Given the description of an element on the screen output the (x, y) to click on. 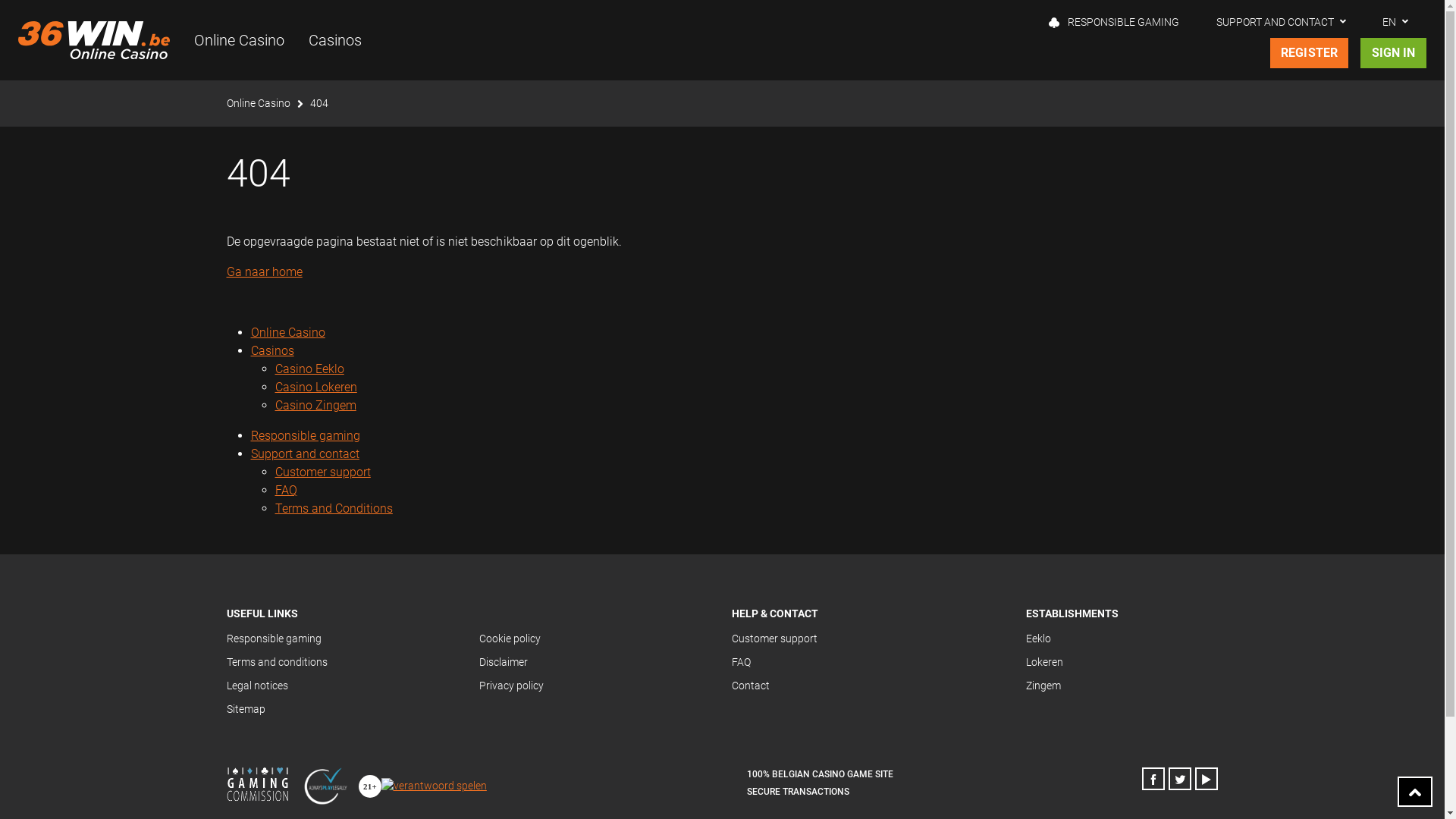
Legal notices Element type: text (256, 685)
SIGN IN Element type: text (1393, 52)
Eeklo Element type: text (1038, 638)
Ga naar home Element type: text (263, 271)
Customer support Element type: text (322, 471)
Online Casino Element type: text (239, 39)
Skip to content Element type: text (721, 0)
FAQ Element type: text (285, 490)
Support and contact Element type: text (304, 453)
Responsible gaming Element type: text (272, 638)
Casino Zingem Element type: text (314, 405)
TWITTER Element type: text (1179, 778)
Online Casino Element type: text (257, 103)
Terms and Conditions Element type: text (333, 508)
Casinos Element type: text (271, 350)
FACEBOOK Element type: text (1153, 778)
Contact Element type: text (749, 685)
YOUTUBE Element type: text (1206, 778)
REGISTER Element type: text (1309, 52)
Zingem Element type: text (1043, 685)
Lokeren Element type: text (1044, 661)
FAQ Element type: text (740, 661)
Disclaimer Element type: text (503, 661)
Customer support Element type: text (773, 638)
Sitemap Element type: text (244, 708)
RESPONSIBLE GAMING Element type: text (1113, 21)
Responsible gaming Element type: text (304, 435)
SUPPORT AND CONTACT Element type: text (1281, 21)
Casino Lokeren Element type: text (315, 386)
Cookie policy Element type: text (509, 638)
Casinos Element type: text (334, 39)
Privacy policy Element type: text (511, 685)
Casino Eeklo Element type: text (308, 368)
Terms and conditions Element type: text (275, 661)
Online Casino Element type: text (287, 332)
EN Element type: text (1395, 21)
